Given the description of an element on the screen output the (x, y) to click on. 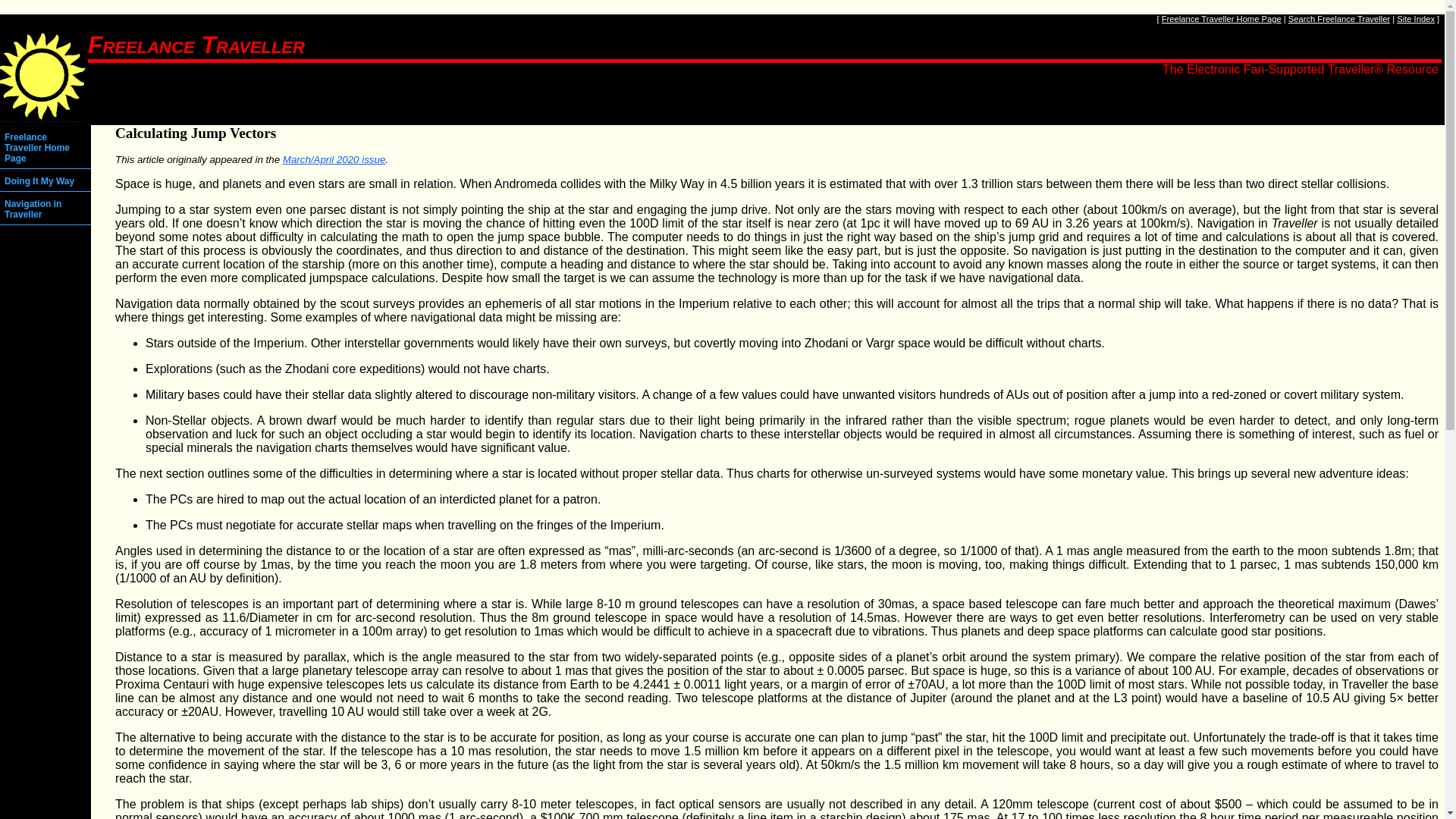
Freelance Traveller Home Page (45, 147)
Freelance Traveller Home Page (1221, 18)
Doing It My Way (45, 181)
Search Freelance Traveller (1339, 18)
Navigation in Traveller (45, 209)
Site Index (1415, 18)
